Given the description of an element on the screen output the (x, y) to click on. 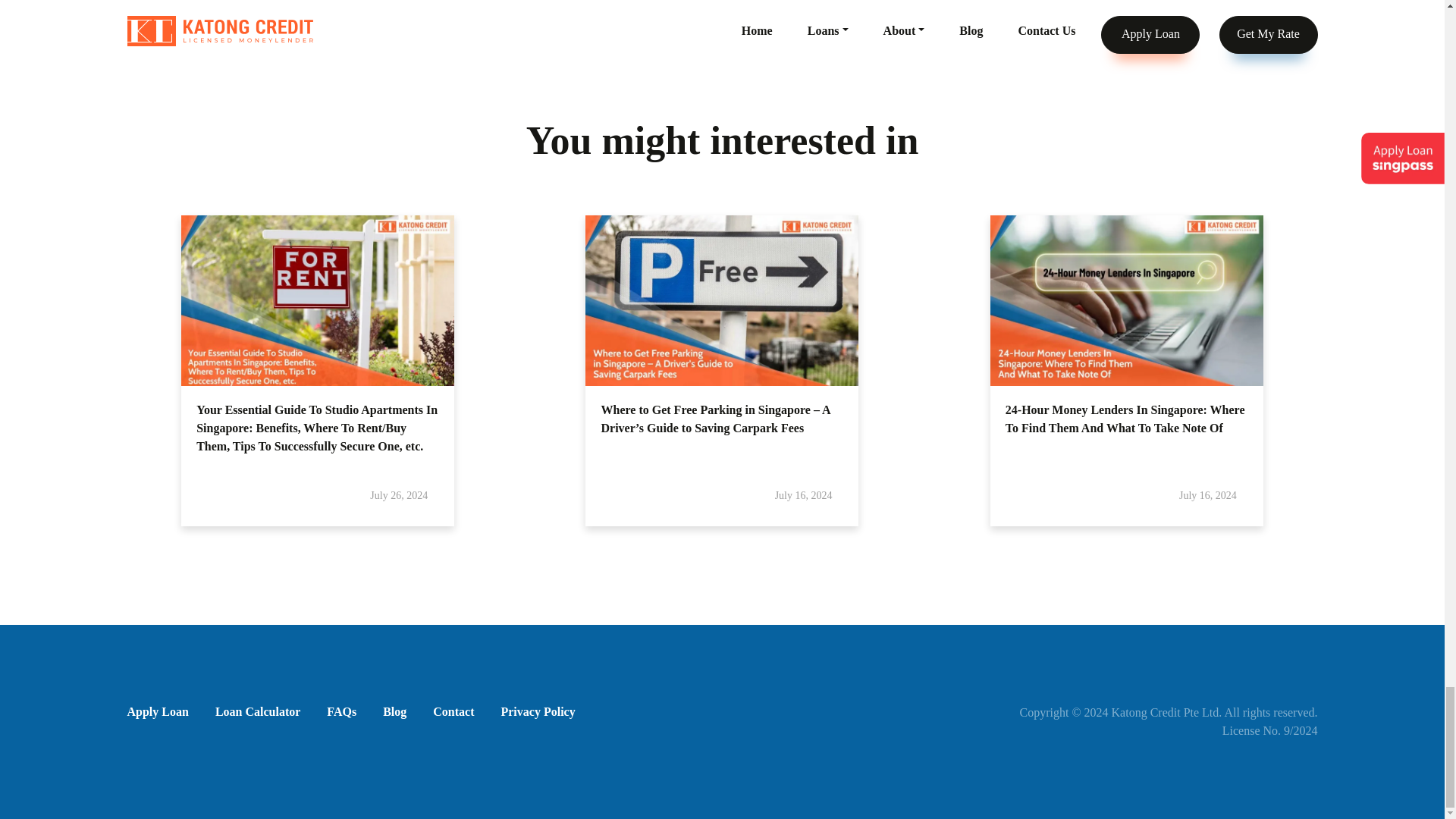
FAQs (341, 711)
Loan Calculator (257, 711)
Apply Loan (158, 711)
Privacy Policy (537, 711)
Speak to us today (330, 3)
Blog (394, 711)
online loan application form (969, 3)
Contact (453, 711)
